Given the description of an element on the screen output the (x, y) to click on. 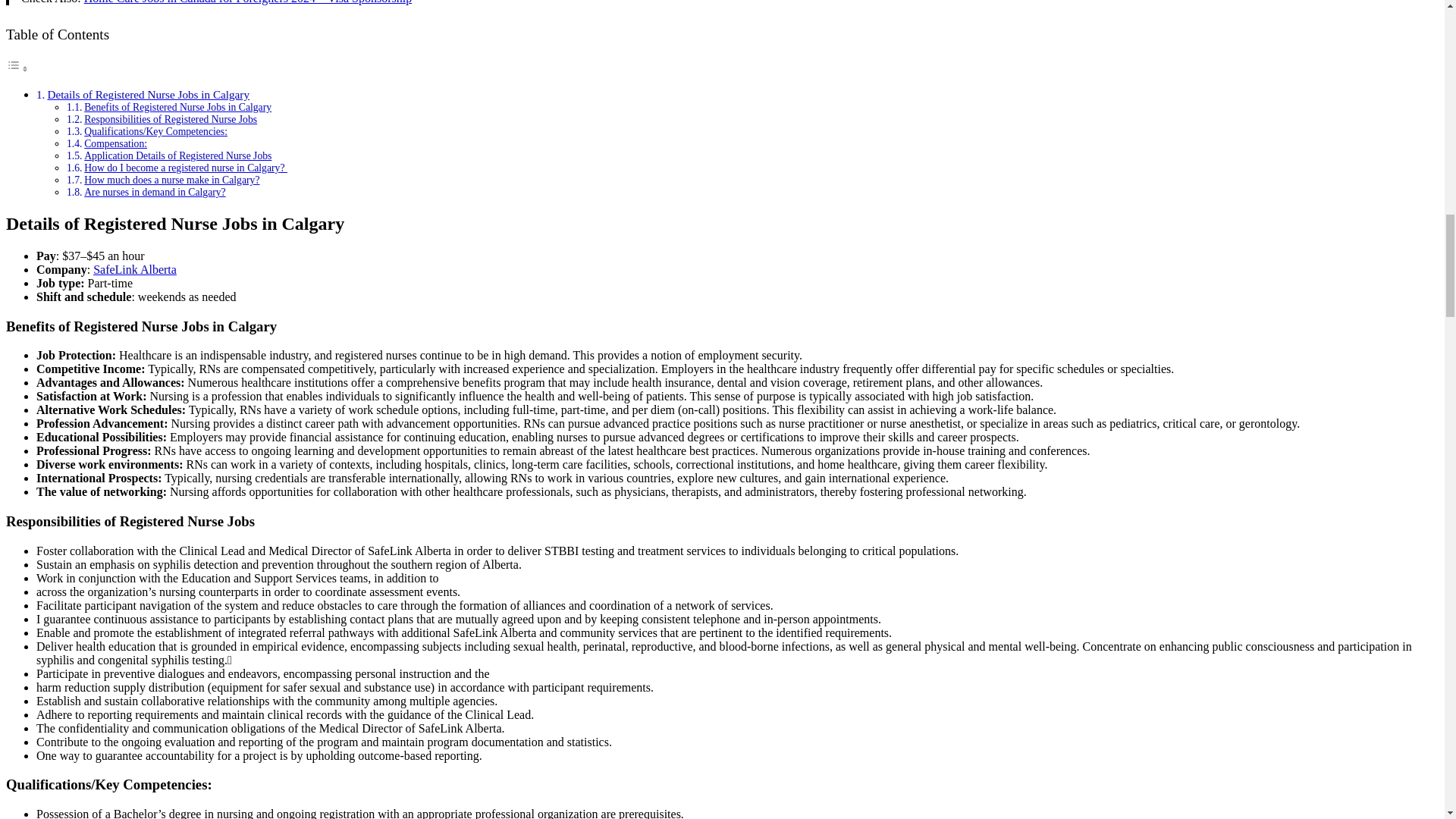
Responsibilities of Registered Nurse Jobs (170, 119)
Benefits of Registered Nurse Jobs in Calgary (177, 107)
Details of Registered Nurse Jobs in Calgary (147, 93)
Details of Registered Nurse Jobs in Calgary (147, 93)
Compensation: (115, 143)
SafeLink Alberta (134, 269)
Are nurses in demand in Calgary? (154, 192)
How do I become a registered nurse in Calgary?  (185, 167)
Application Details of Registered Nurse Jobs (177, 155)
How much does a nurse make in Calgary? (171, 179)
How much does a nurse make in Calgary? (171, 179)
Compensation: (115, 143)
Application Details of Registered Nurse Jobs (177, 155)
Are nurses in demand in Calgary? (154, 192)
